Given the description of an element on the screen output the (x, y) to click on. 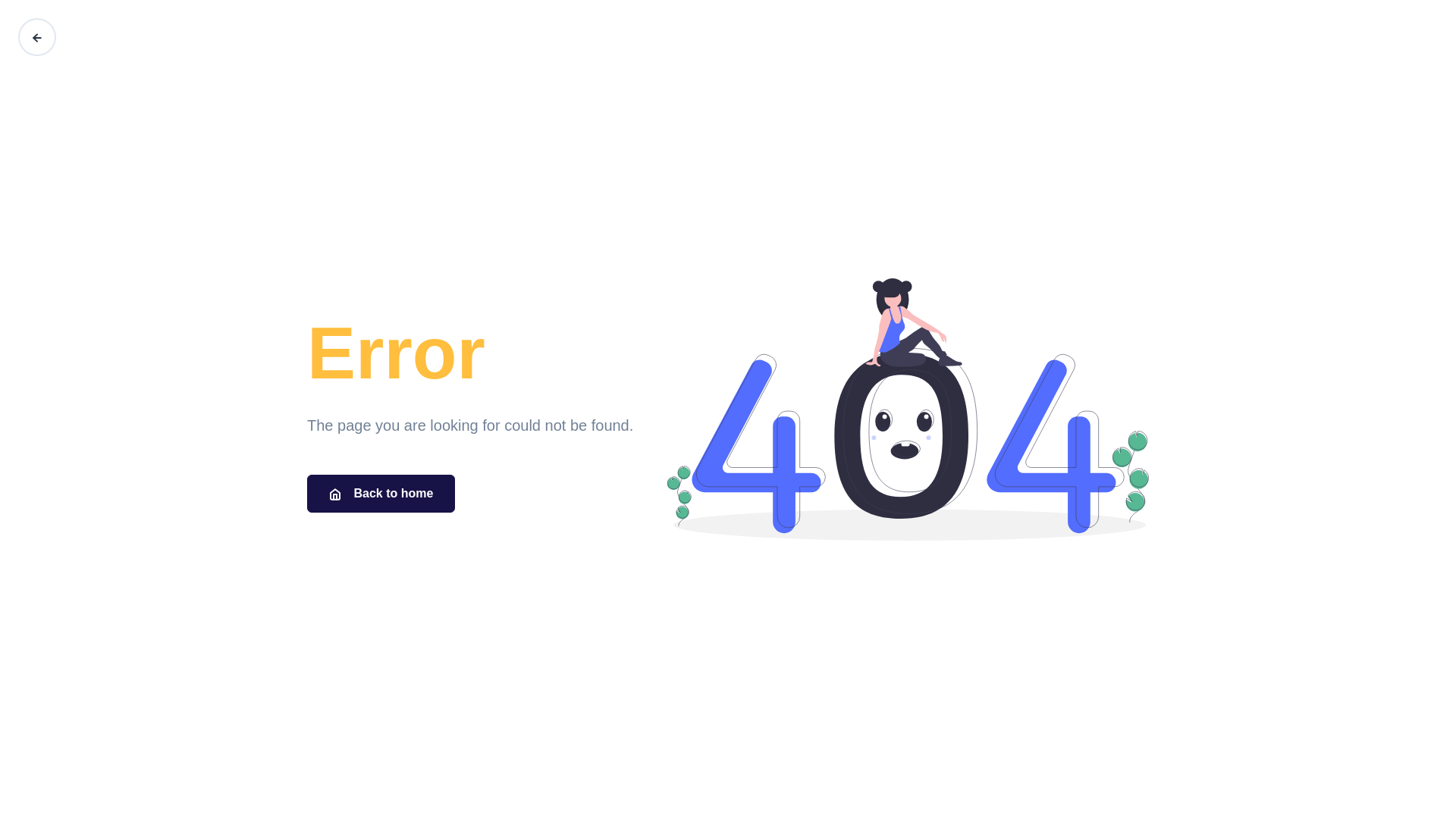
Back to home Element type: text (381, 493)
Go back Element type: hover (37, 37)
